Given the description of an element on the screen output the (x, y) to click on. 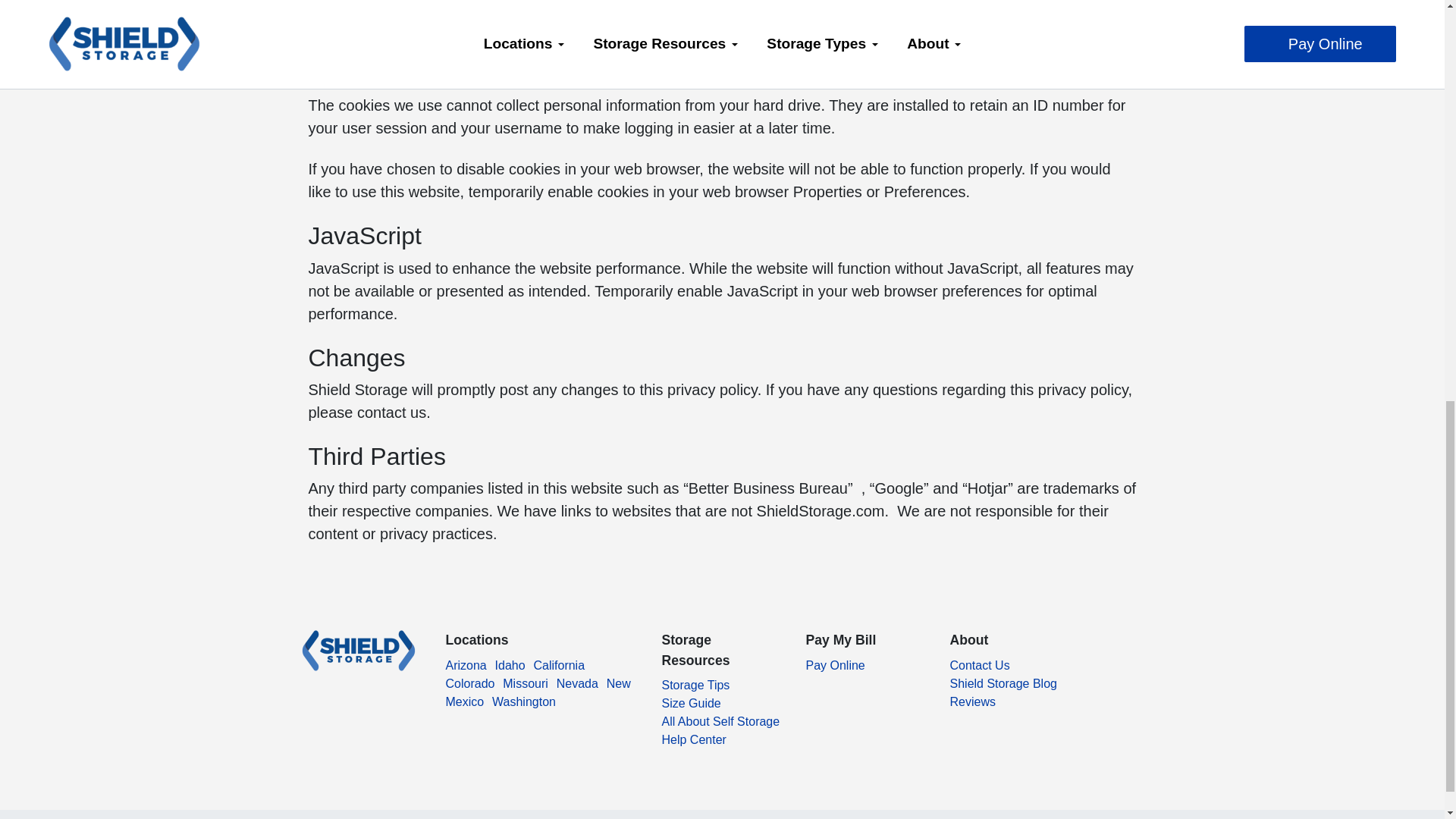
Idaho (510, 670)
Arizona (465, 670)
California (558, 670)
Nevada (577, 688)
Colorado (470, 688)
Missouri (525, 688)
facebook (308, 707)
